Given the description of an element on the screen output the (x, y) to click on. 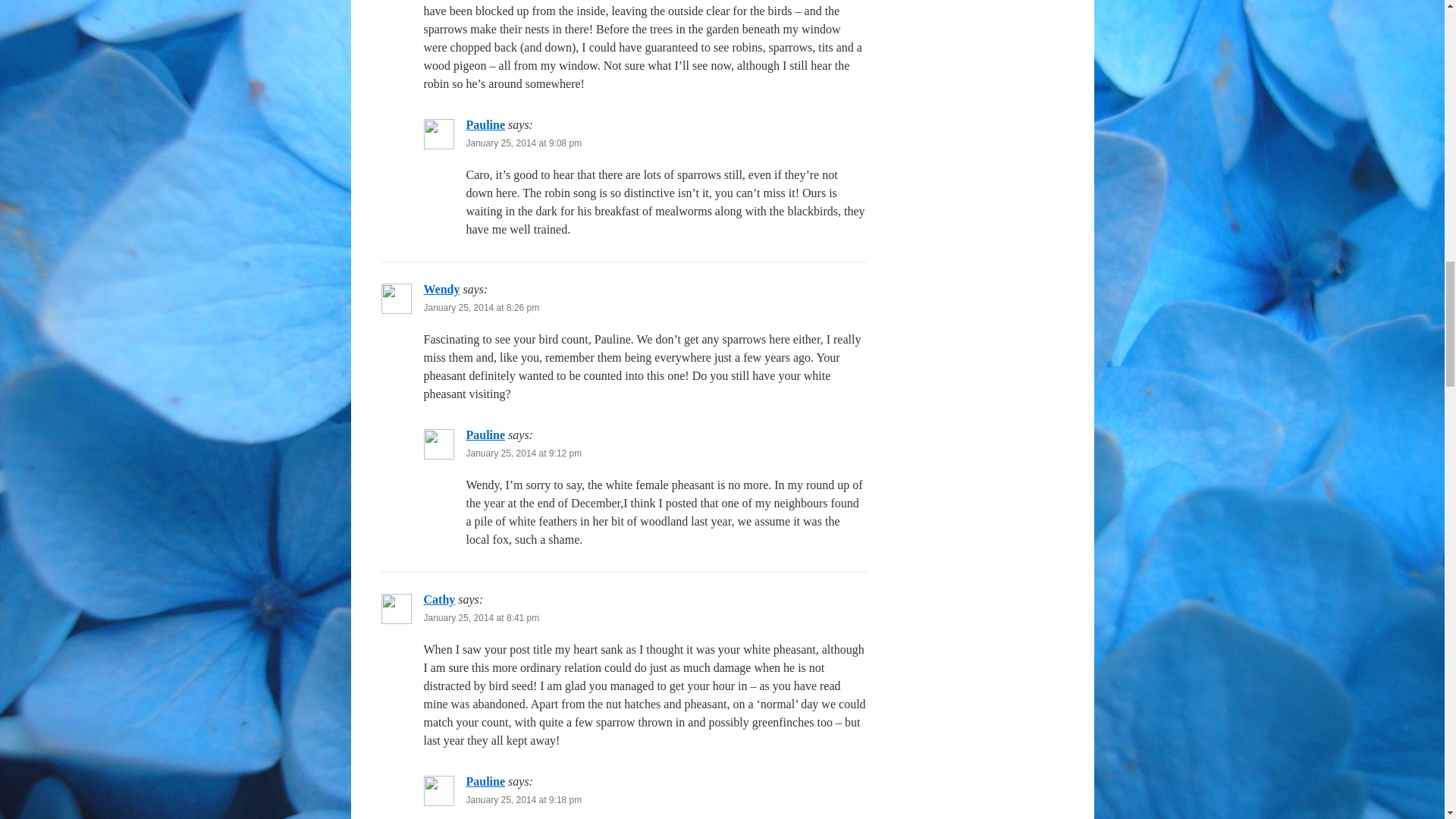
January 25, 2014 at 9:12 pm (522, 452)
January 25, 2014 at 8:26 pm (480, 307)
Pauline (485, 434)
Wendy (441, 288)
Pauline (485, 124)
January 25, 2014 at 9:08 pm (522, 143)
